Given the description of an element on the screen output the (x, y) to click on. 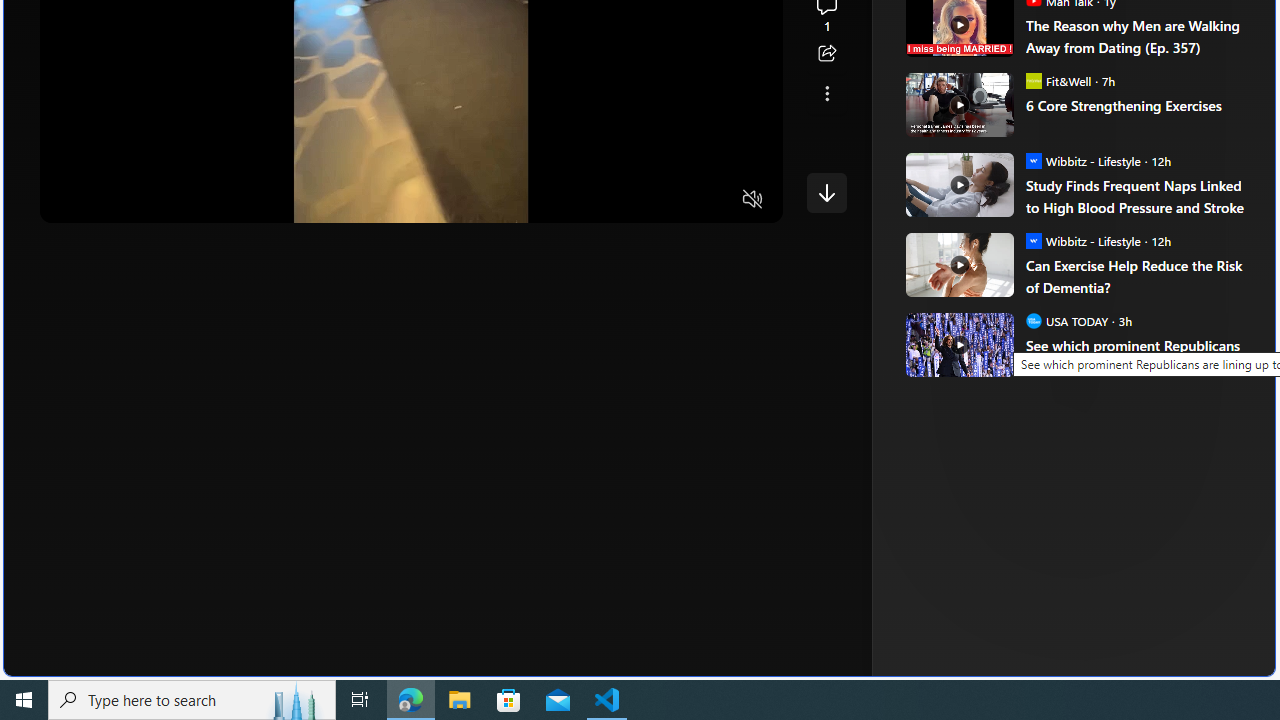
6 Core Strengthening Exercises (958, 104)
Wibbitz - Lifestyle (1033, 240)
Quality Settings (634, 200)
6 Core Strengthening Exercises (1136, 105)
Can Exercise Help Reduce the Risk of Dementia? (1136, 276)
Fit&Well Fit&Well (1058, 80)
Fullscreen (714, 200)
USA TODAY (1033, 320)
The Reason why Men are Walking Away from Dating (Ep. 357) (1136, 36)
